Given the description of an element on the screen output the (x, y) to click on. 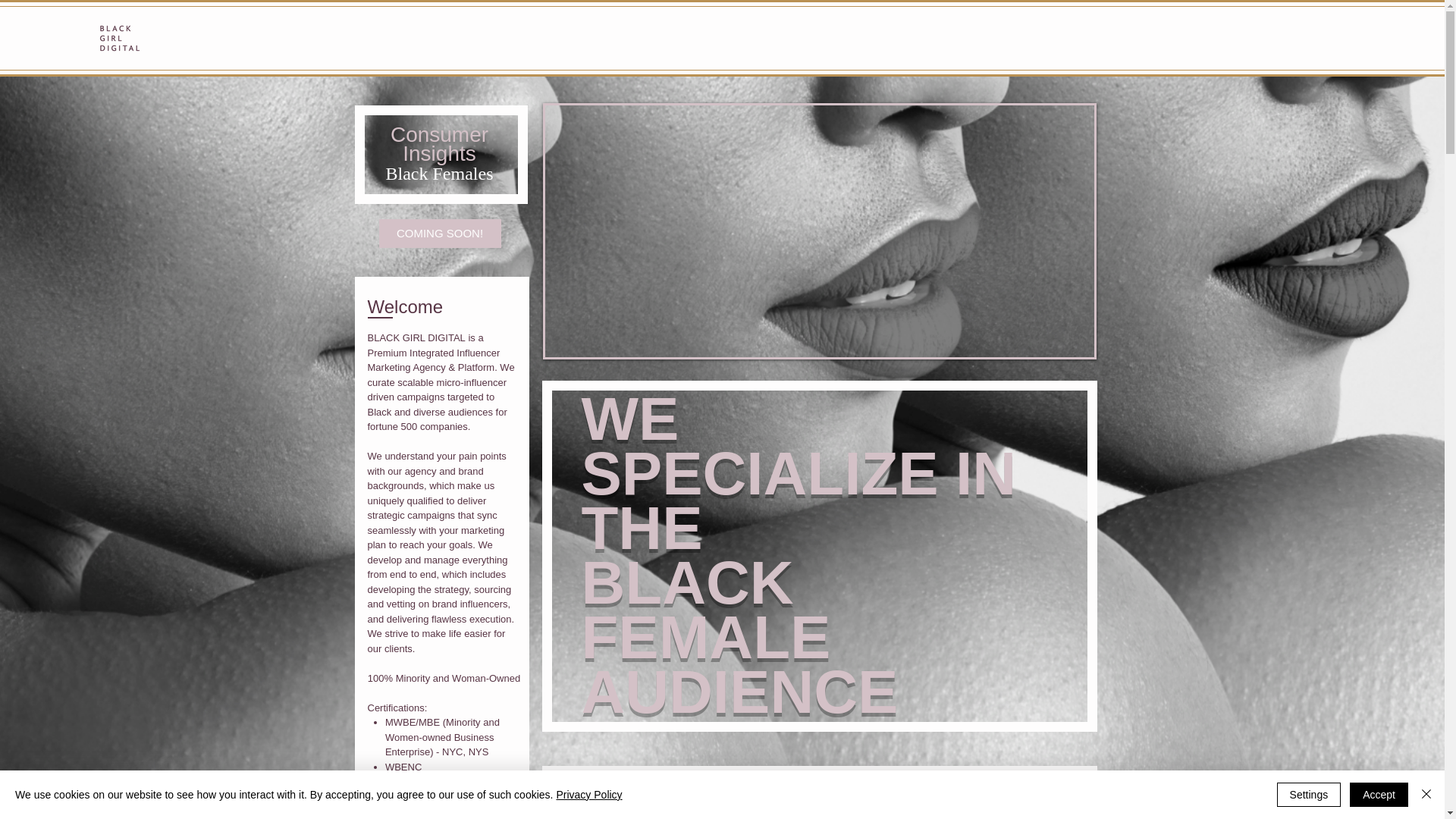
COMING SOON! (439, 233)
Untitled design.png (118, 38)
